Given the description of an element on the screen output the (x, y) to click on. 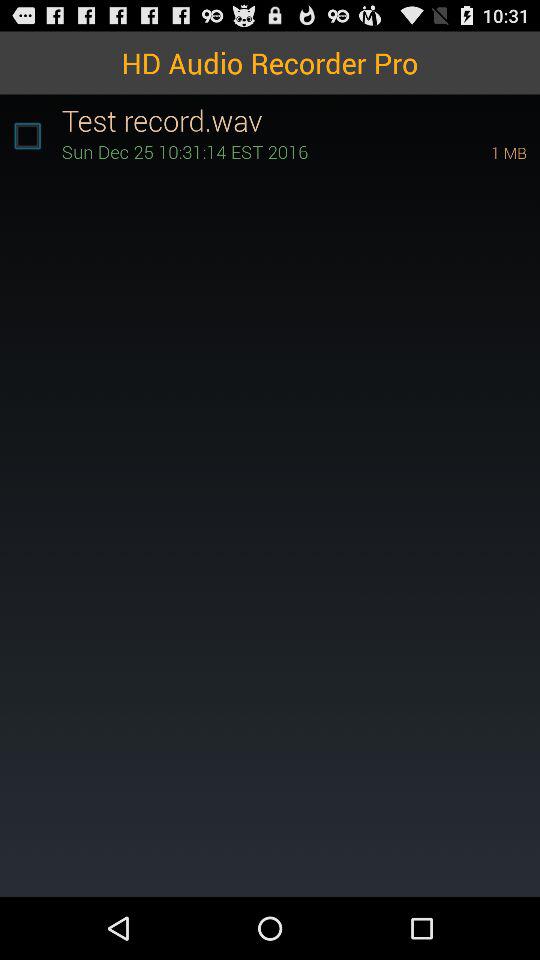
launch app to the left of the test record.wav icon (27, 136)
